Given the description of an element on the screen output the (x, y) to click on. 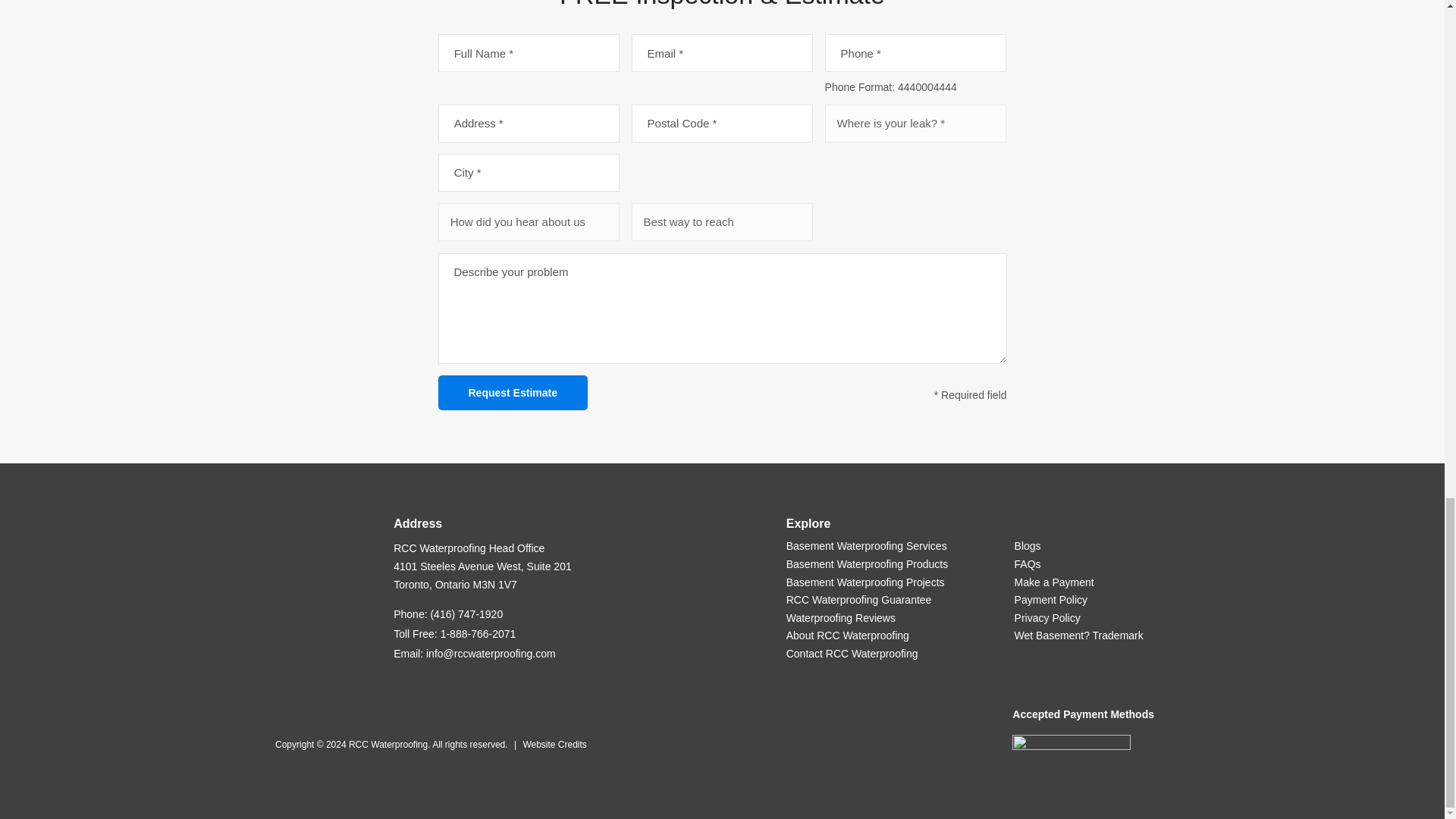
Request Estimate (513, 392)
